Given the description of an element on the screen output the (x, y) to click on. 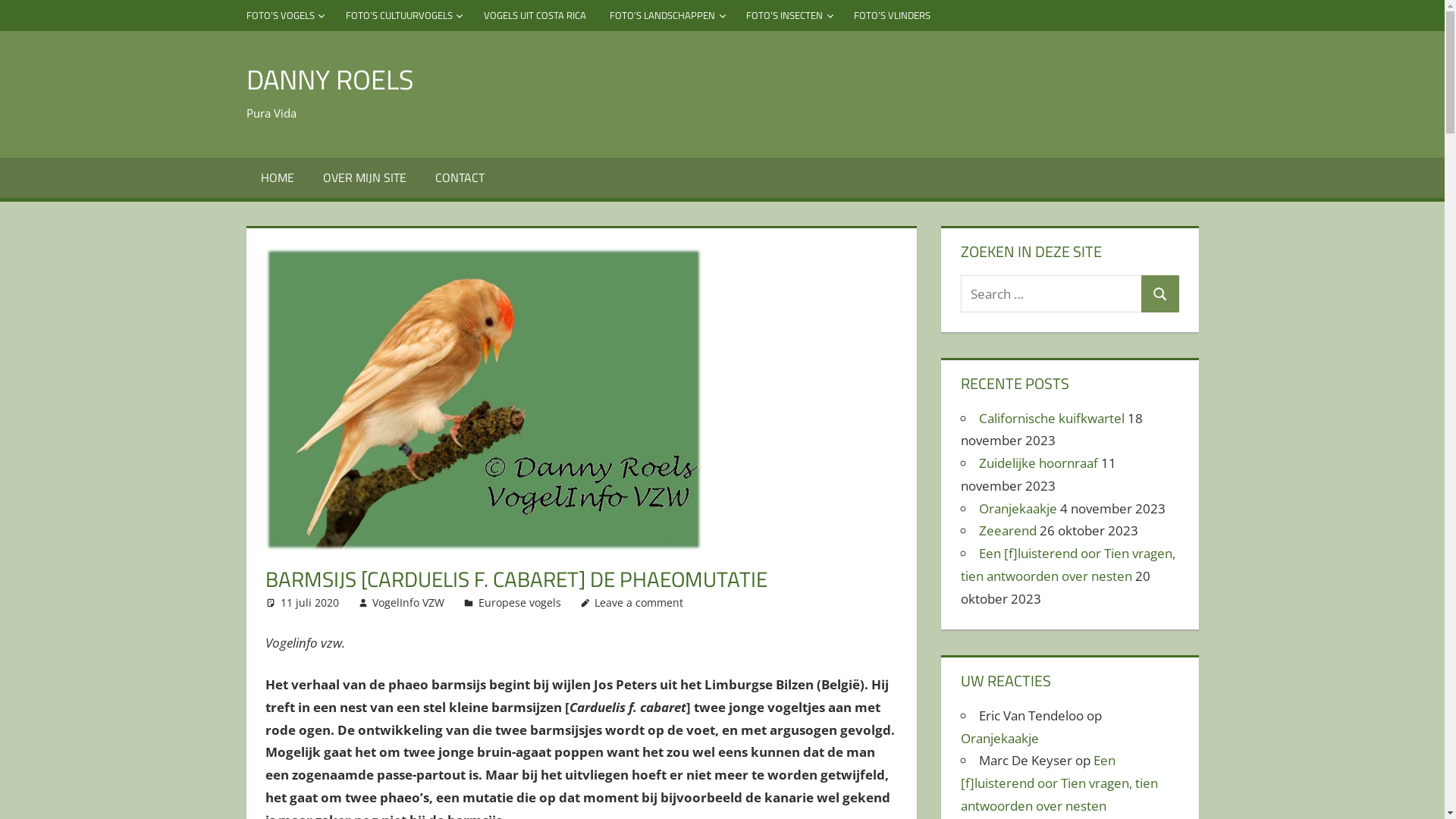
Leave a comment Element type: text (638, 602)
11 juli 2020 Element type: text (309, 602)
VOGELS UIT COSTA RICA Element type: text (534, 15)
CONTACT Element type: text (459, 177)
Europese vogels Element type: text (519, 602)
Oranjekaakje Element type: text (1018, 508)
HOME Element type: text (276, 177)
DANNY ROELS Element type: text (329, 79)
Zuidelijke hoornraaf Element type: text (1038, 462)
Search for: Element type: hover (1051, 293)
Search Element type: text (1160, 293)
OVER MIJN SITE Element type: text (364, 177)
Californische kuifkwartel Element type: text (1051, 417)
Oranjekaakje Element type: text (999, 737)
VogelInfo VZW Element type: text (408, 602)
Zeearend Element type: text (1007, 530)
